Given the description of an element on the screen output the (x, y) to click on. 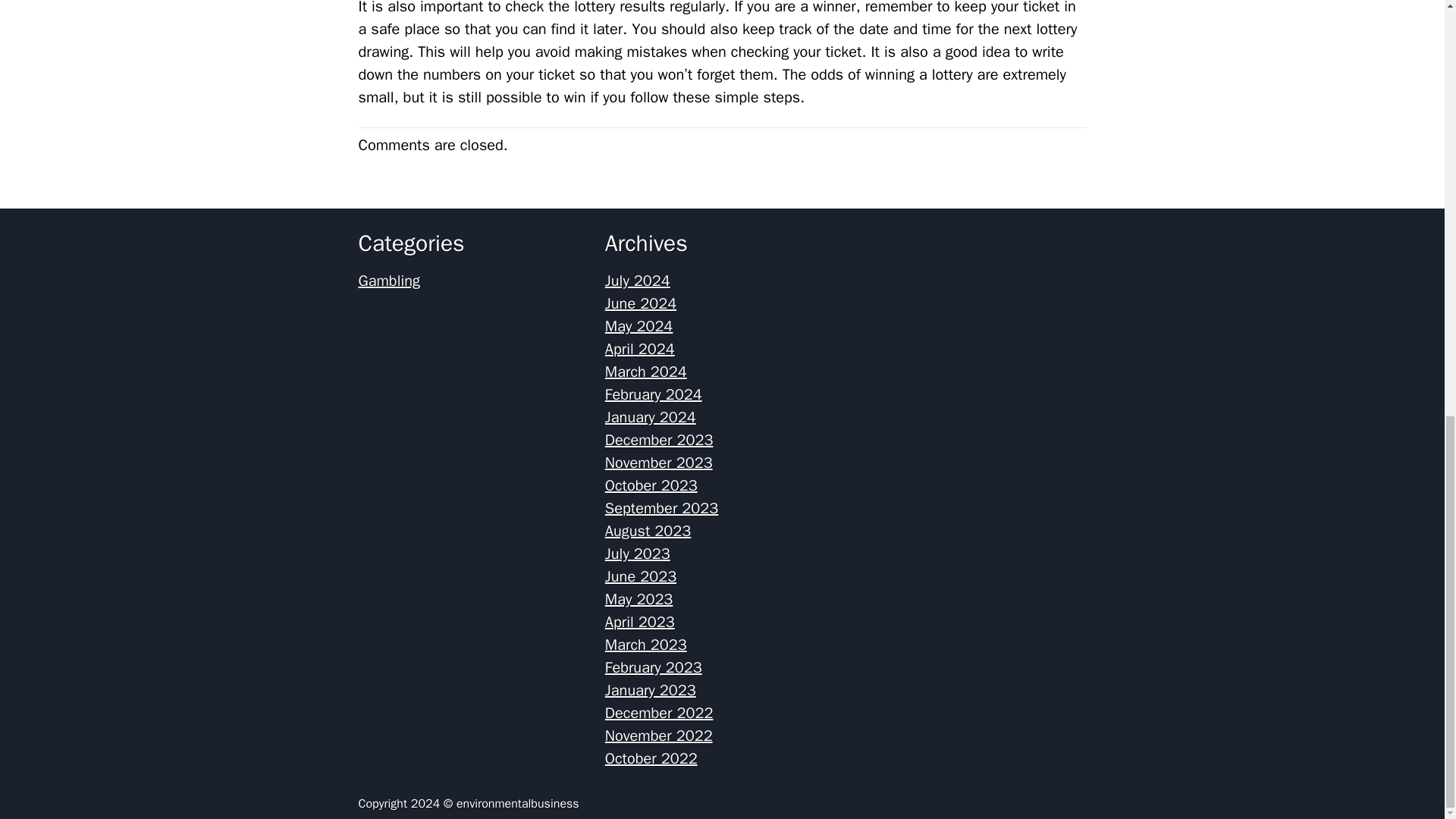
October 2023 (651, 485)
March 2023 (646, 644)
September 2023 (661, 507)
June 2023 (641, 576)
November 2023 (659, 462)
April 2023 (640, 621)
January 2023 (650, 690)
February 2023 (653, 667)
December 2023 (659, 439)
July 2023 (637, 553)
December 2022 (659, 712)
May 2023 (638, 599)
June 2024 (641, 303)
Gambling (388, 280)
July 2024 (637, 280)
